Given the description of an element on the screen output the (x, y) to click on. 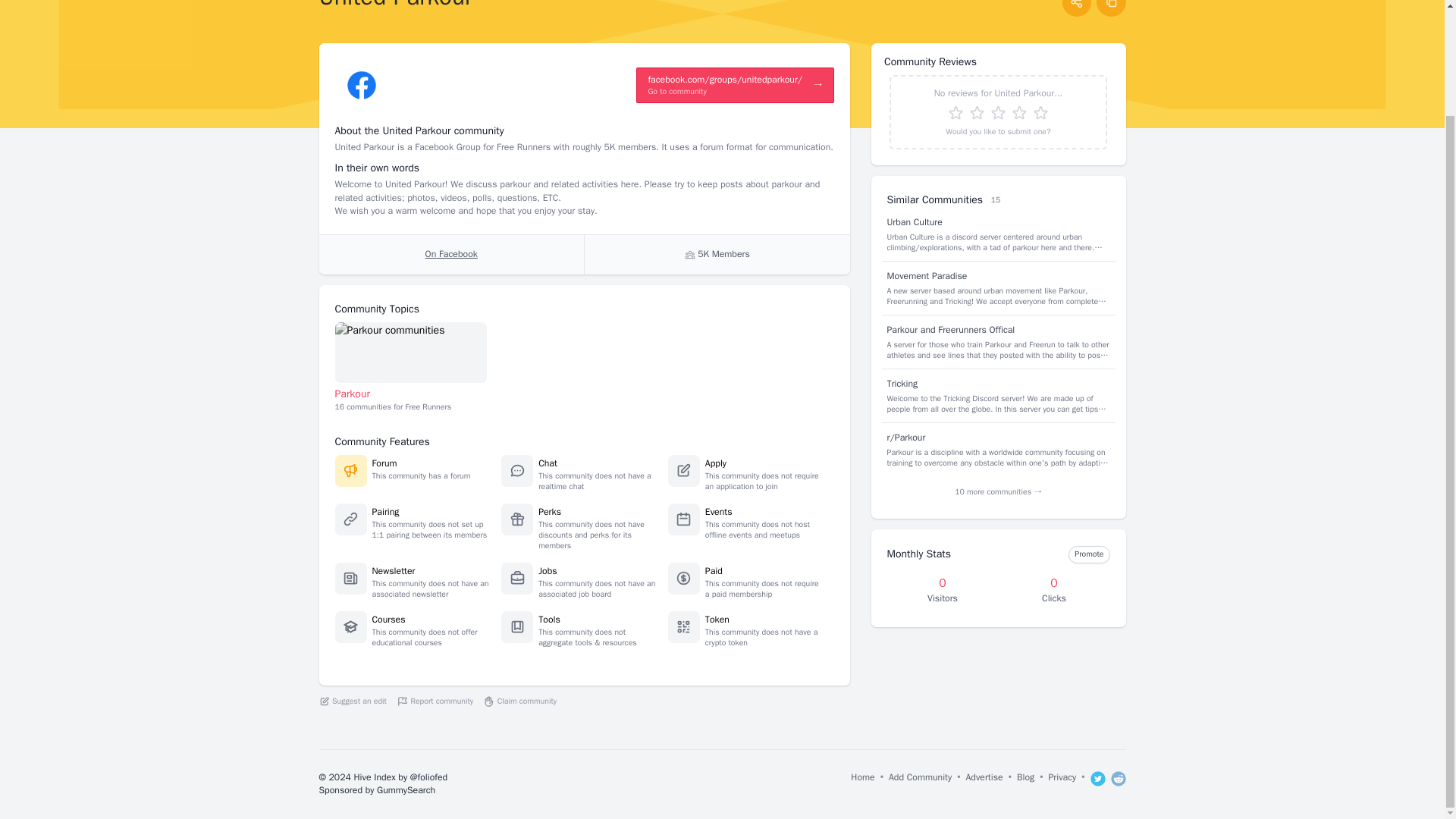
Chat (547, 463)
Promote (1088, 554)
Newsletter (392, 571)
Pairing (384, 511)
Courses (387, 619)
Perks (549, 511)
Paid (713, 571)
Token (716, 619)
Home (862, 784)
Events (718, 511)
Jobs (547, 571)
